Given the description of an element on the screen output the (x, y) to click on. 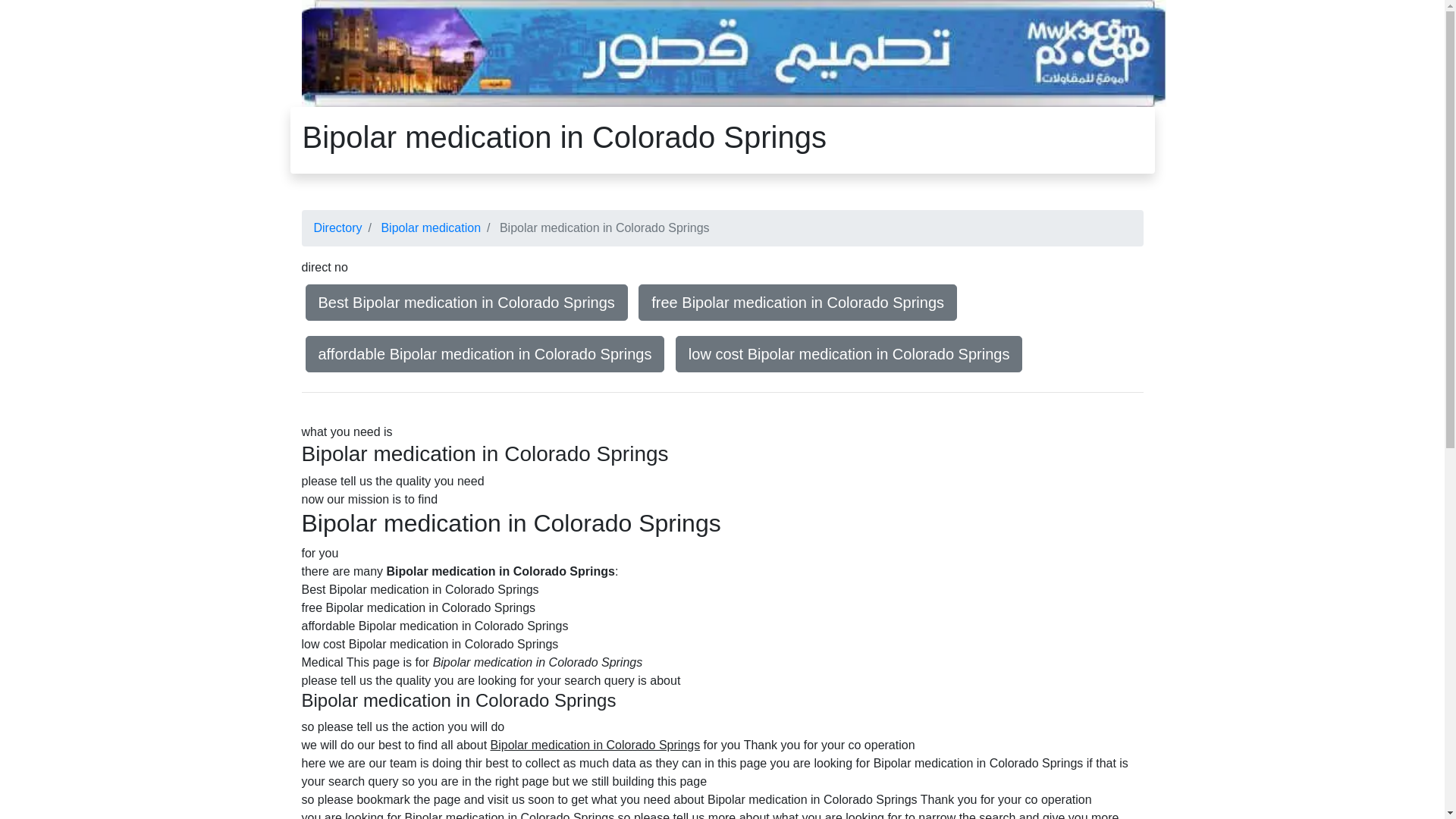
Best Bipolar medication in Colorado Springs Element type: text (465, 302)
Bipolar medication Element type: text (430, 227)
free Bipolar medication in Colorado Springs Element type: text (797, 302)
affordable Bipolar medication in Colorado Springs Element type: text (484, 353)
Directory Element type: text (337, 227)
low cost Bipolar medication in Colorado Springs Element type: text (848, 353)
